Given the description of an element on the screen output the (x, y) to click on. 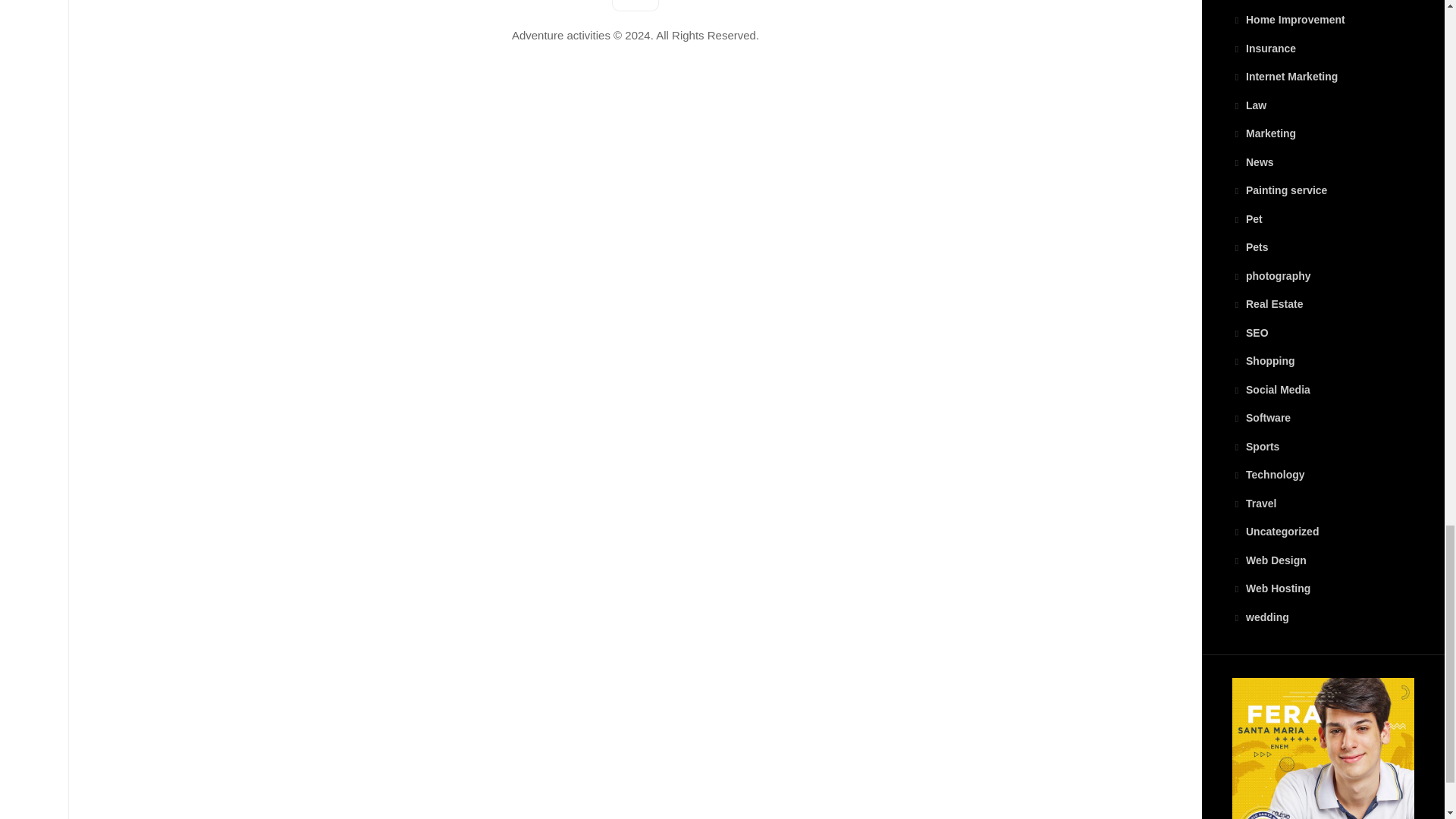
Internet Marketing (1284, 76)
Insurance (1263, 48)
Home Improvement (1288, 19)
Law (1248, 105)
